Given the description of an element on the screen output the (x, y) to click on. 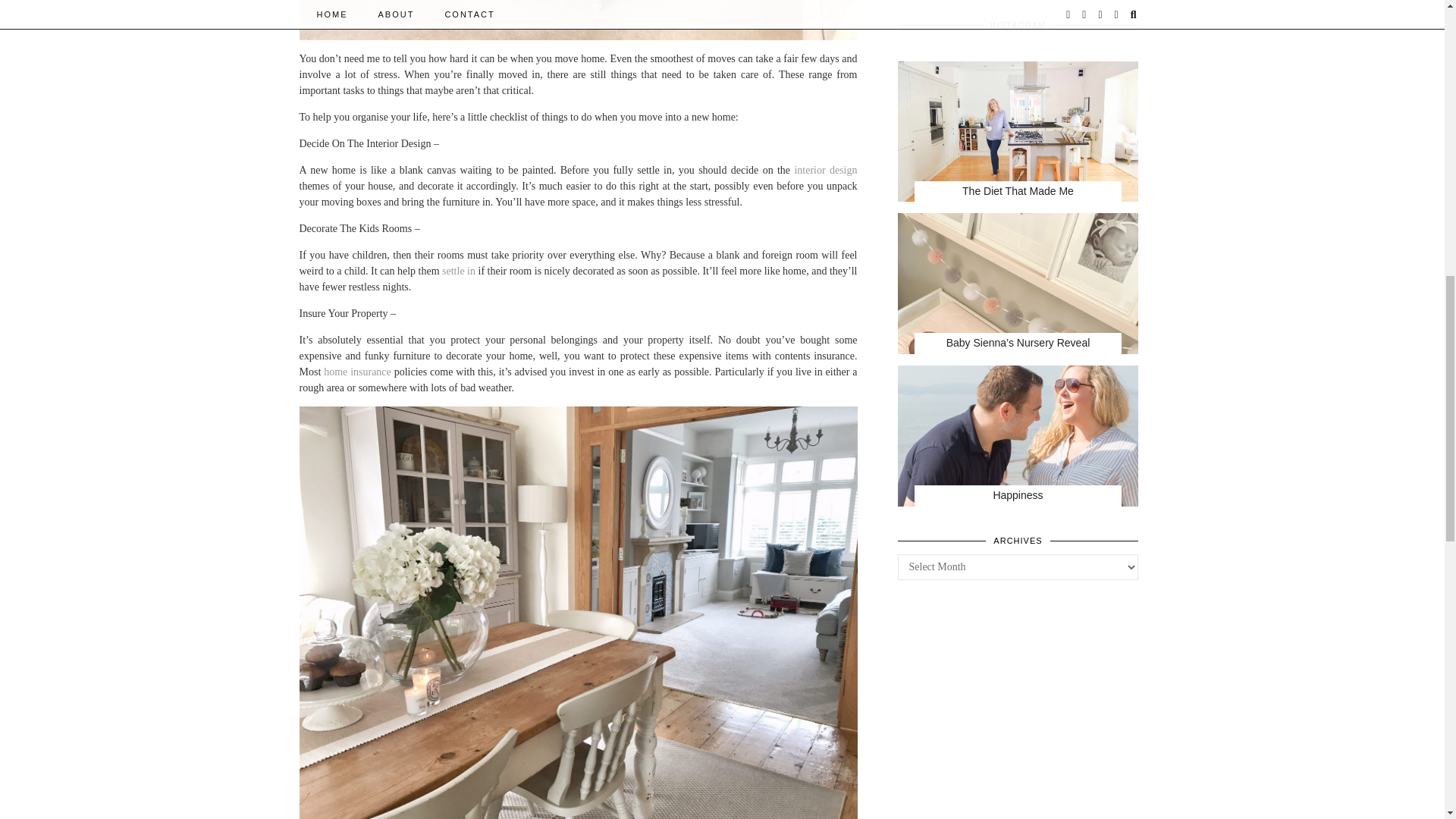
The Diet That Made Me (1018, 131)
settle in (459, 270)
home insurance (357, 371)
interior design (825, 170)
